Given the description of an element on the screen output the (x, y) to click on. 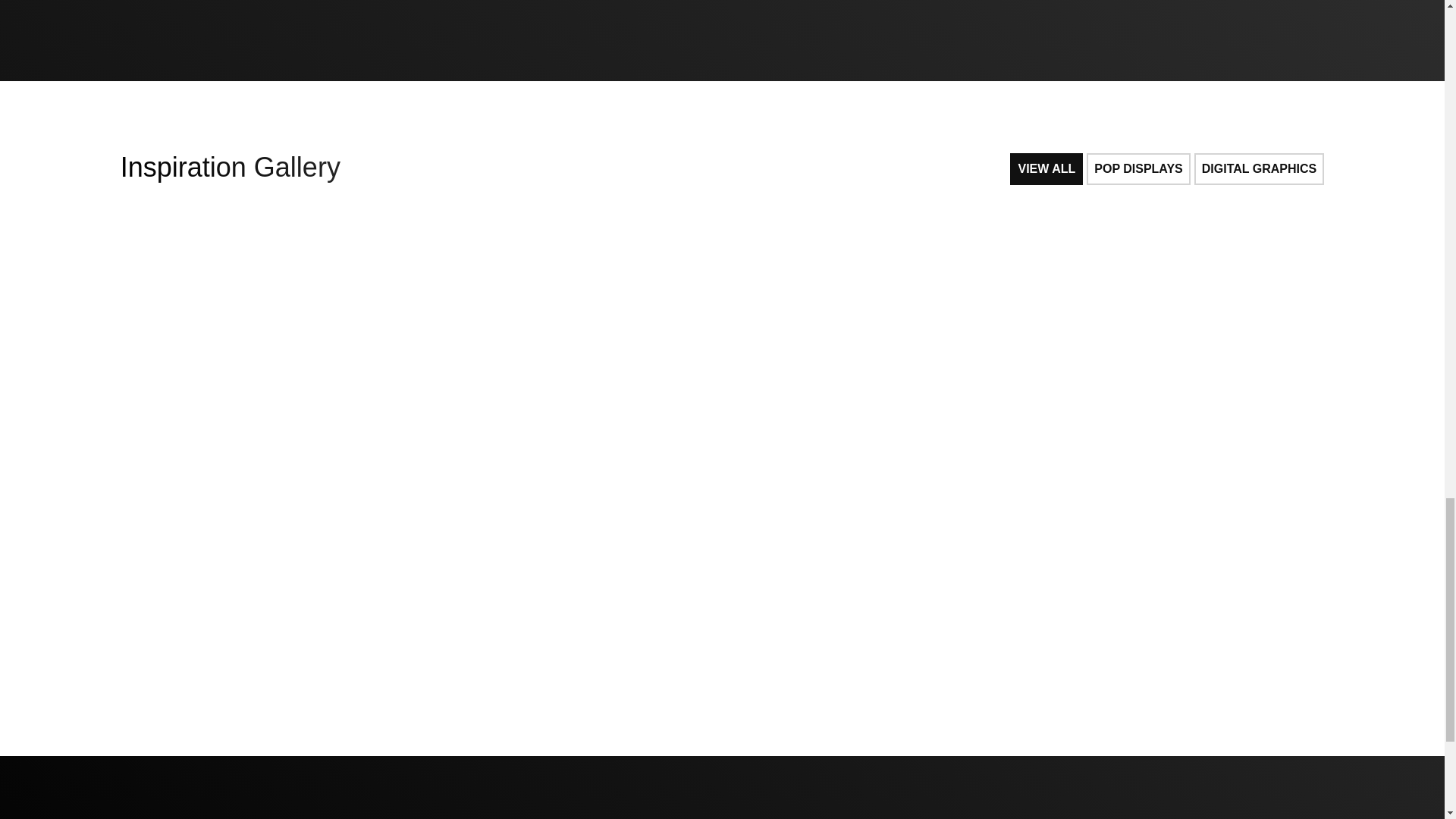
POP DISPLAYS (1138, 169)
VIEW ALL (1046, 169)
DIGITAL GRAPHICS (1258, 169)
